Given the description of an element on the screen output the (x, y) to click on. 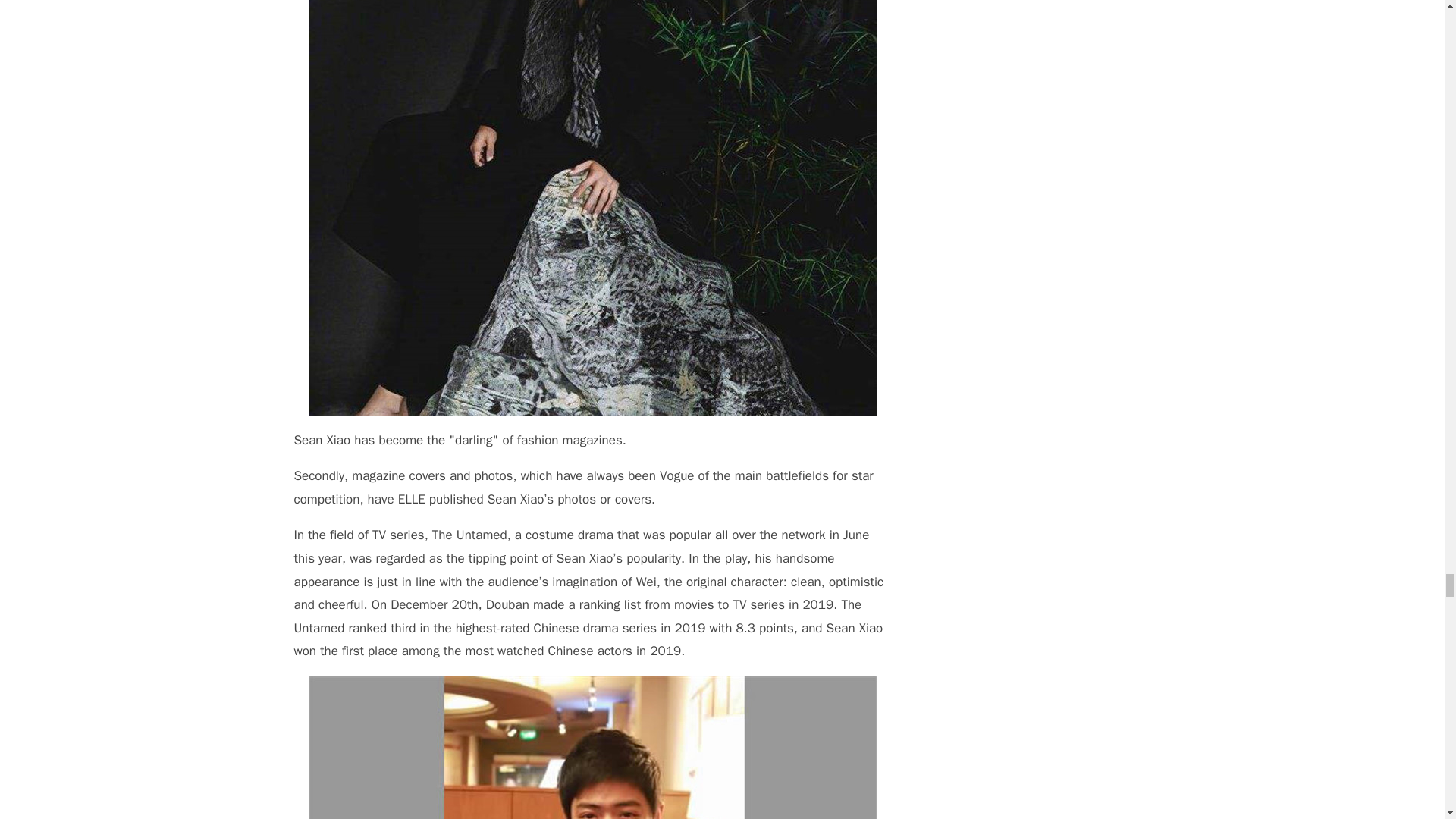
79de745128f8971f3e7fade5ef43e217.jpg (592, 747)
